Given the description of an element on the screen output the (x, y) to click on. 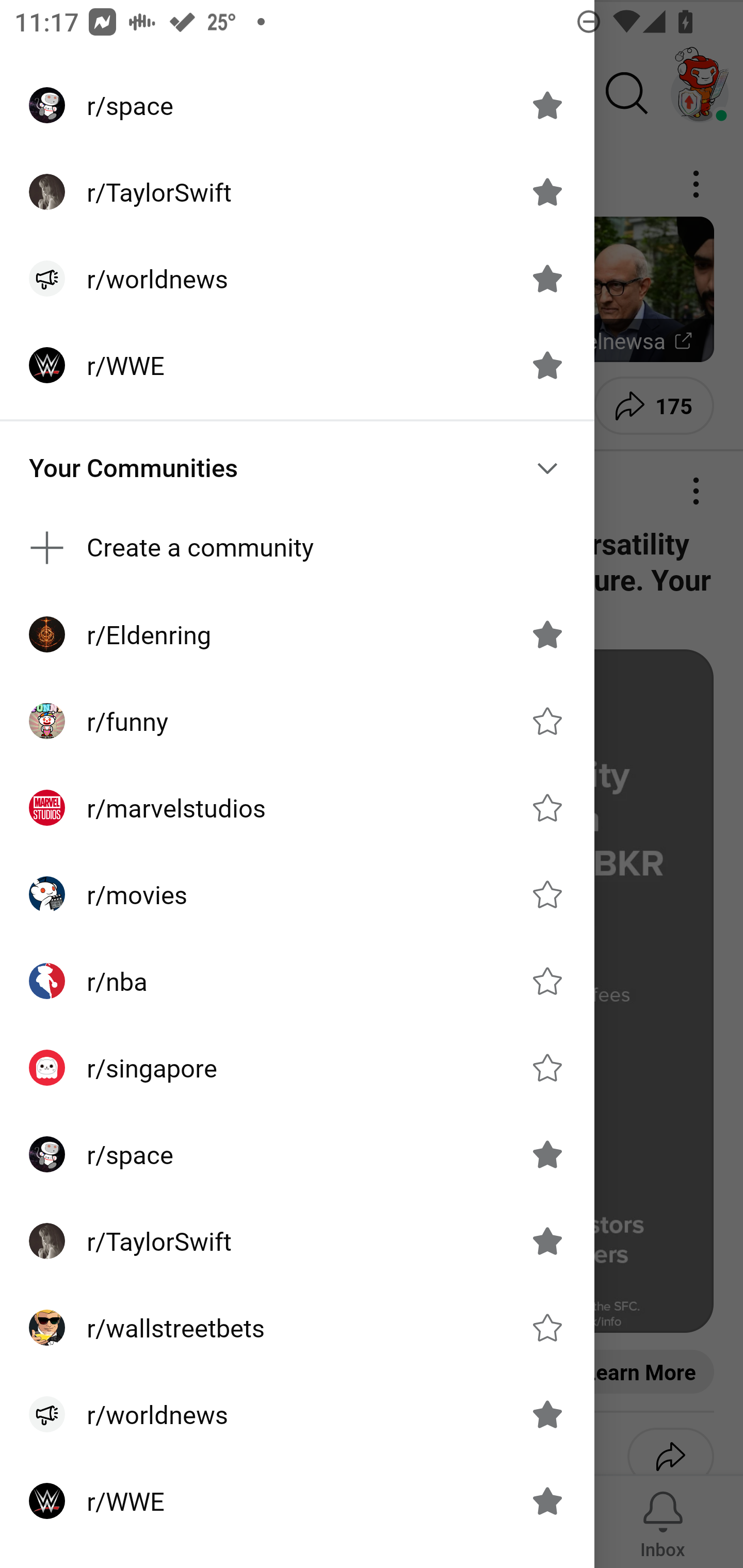
r/space Unfavorite r/space (297, 104)
Unfavorite r/space (546, 104)
r/TaylorSwift Unfavorite r/TaylorSwift (297, 191)
Unfavorite r/TaylorSwift (546, 192)
r/worldnews Unfavorite r/worldnews (297, 278)
Unfavorite r/worldnews (546, 278)
r/WWE Unfavorite r/WWE (297, 365)
Unfavorite r/WWE (546, 365)
Your Communities (297, 468)
Create a community (297, 547)
r/Eldenring Unfavorite r/Eldenring (297, 634)
Unfavorite r/Eldenring (546, 634)
r/funny Favorite r/funny (297, 721)
Favorite r/funny (546, 721)
r/marvelstudios Favorite r/marvelstudios (297, 808)
Favorite r/marvelstudios (546, 807)
r/movies Favorite r/movies (297, 894)
Favorite r/movies (546, 894)
r/nba Favorite r/nba (297, 980)
Favorite r/nba (546, 980)
r/singapore Favorite r/singapore (297, 1067)
Favorite r/singapore (546, 1067)
r/space Unfavorite r/space (297, 1154)
Unfavorite r/space (546, 1154)
r/TaylorSwift Unfavorite r/TaylorSwift (297, 1240)
Unfavorite r/TaylorSwift (546, 1241)
r/wallstreetbets Favorite r/wallstreetbets (297, 1327)
Favorite r/wallstreetbets (546, 1327)
r/worldnews Unfavorite r/worldnews (297, 1414)
Unfavorite r/worldnews (546, 1414)
r/WWE Unfavorite r/WWE (297, 1501)
Unfavorite r/WWE (546, 1501)
